Given the description of an element on the screen output the (x, y) to click on. 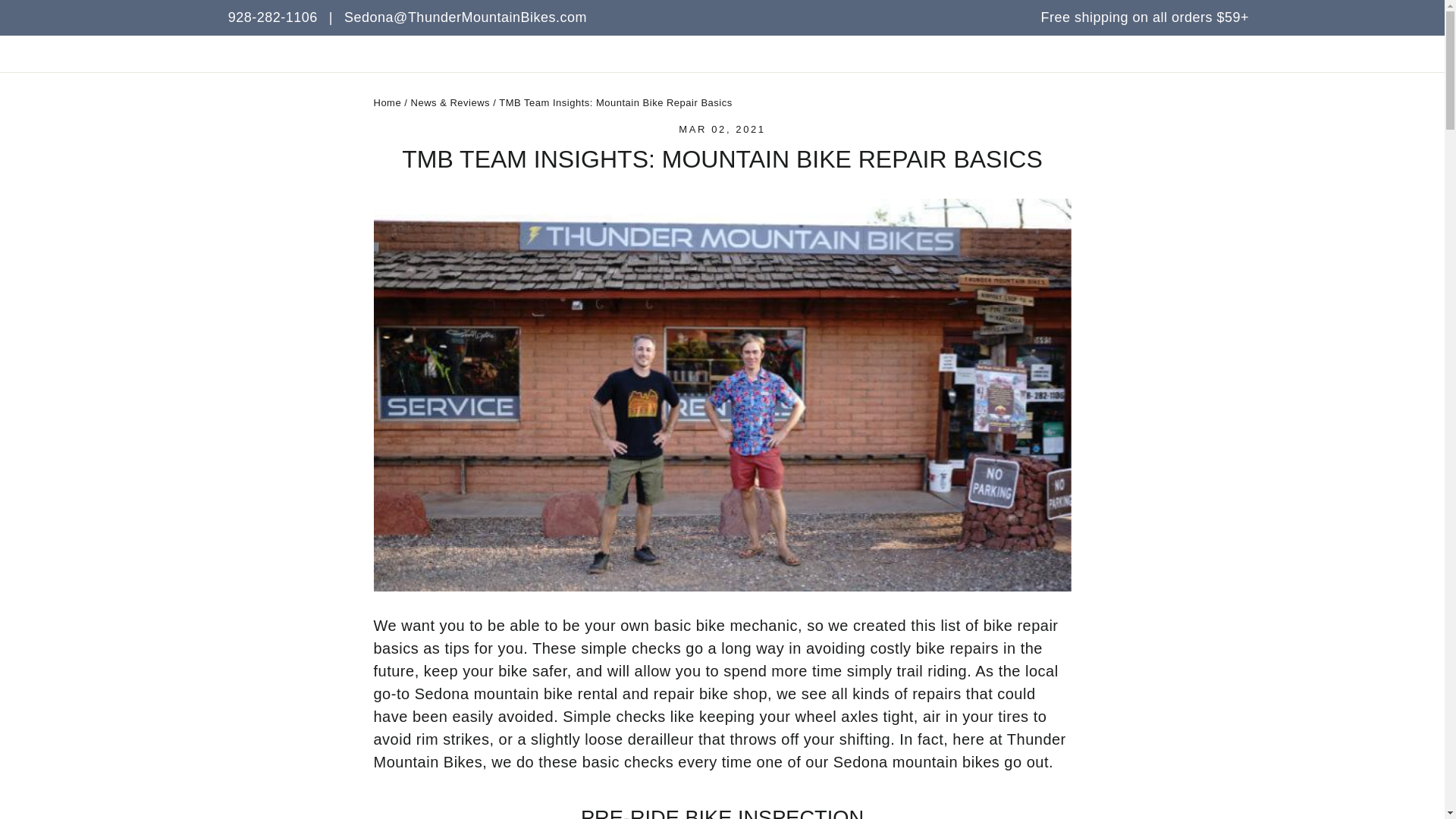
Back to the frontpage (386, 102)
